Given the description of an element on the screen output the (x, y) to click on. 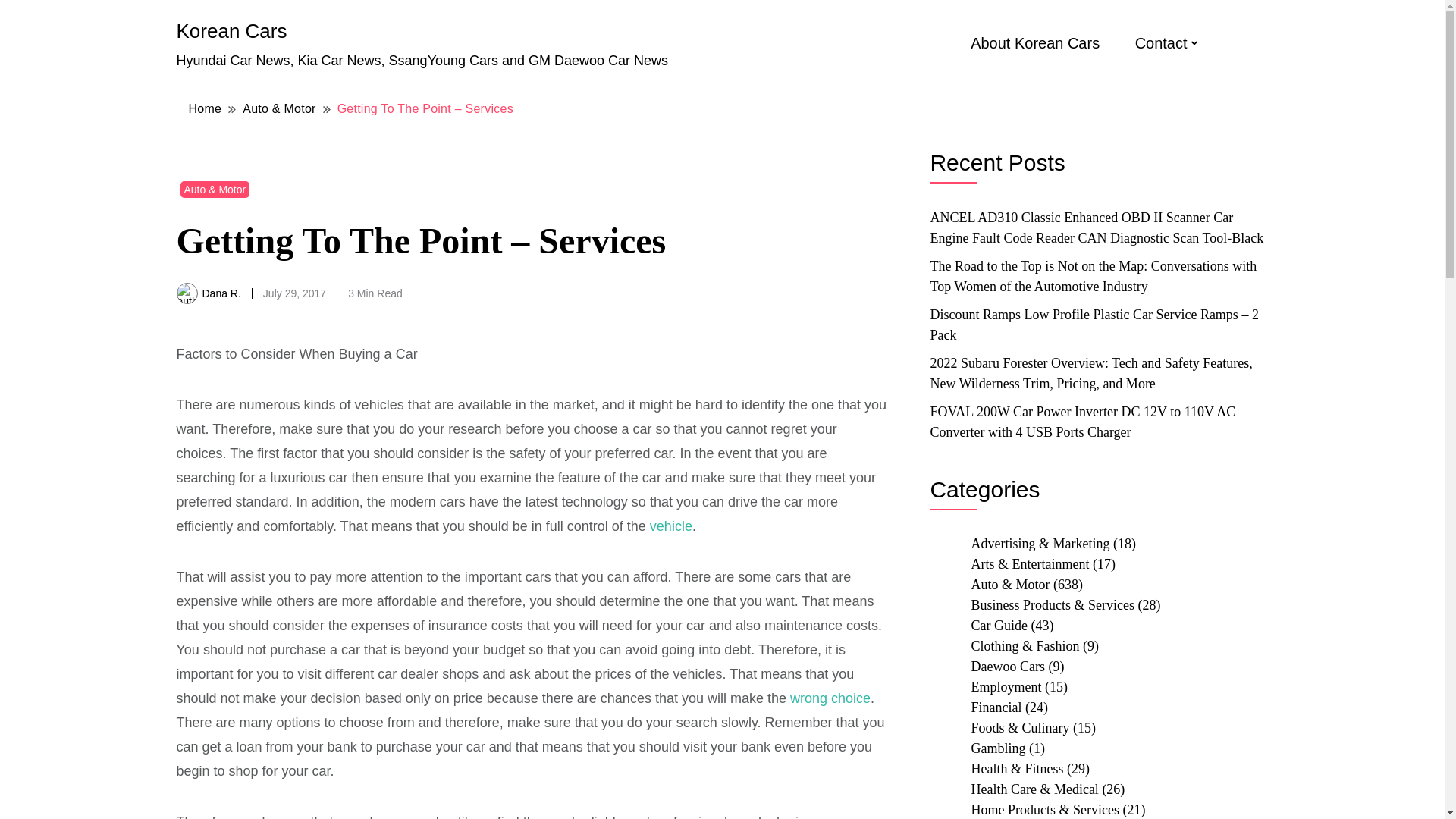
July 29, 2017 (294, 293)
vehicle (671, 525)
Contact (1161, 43)
Home (204, 108)
Korean Cars (231, 30)
About Korean Cars (1035, 43)
wrong choice (830, 698)
Dana R. (221, 293)
